Given the description of an element on the screen output the (x, y) to click on. 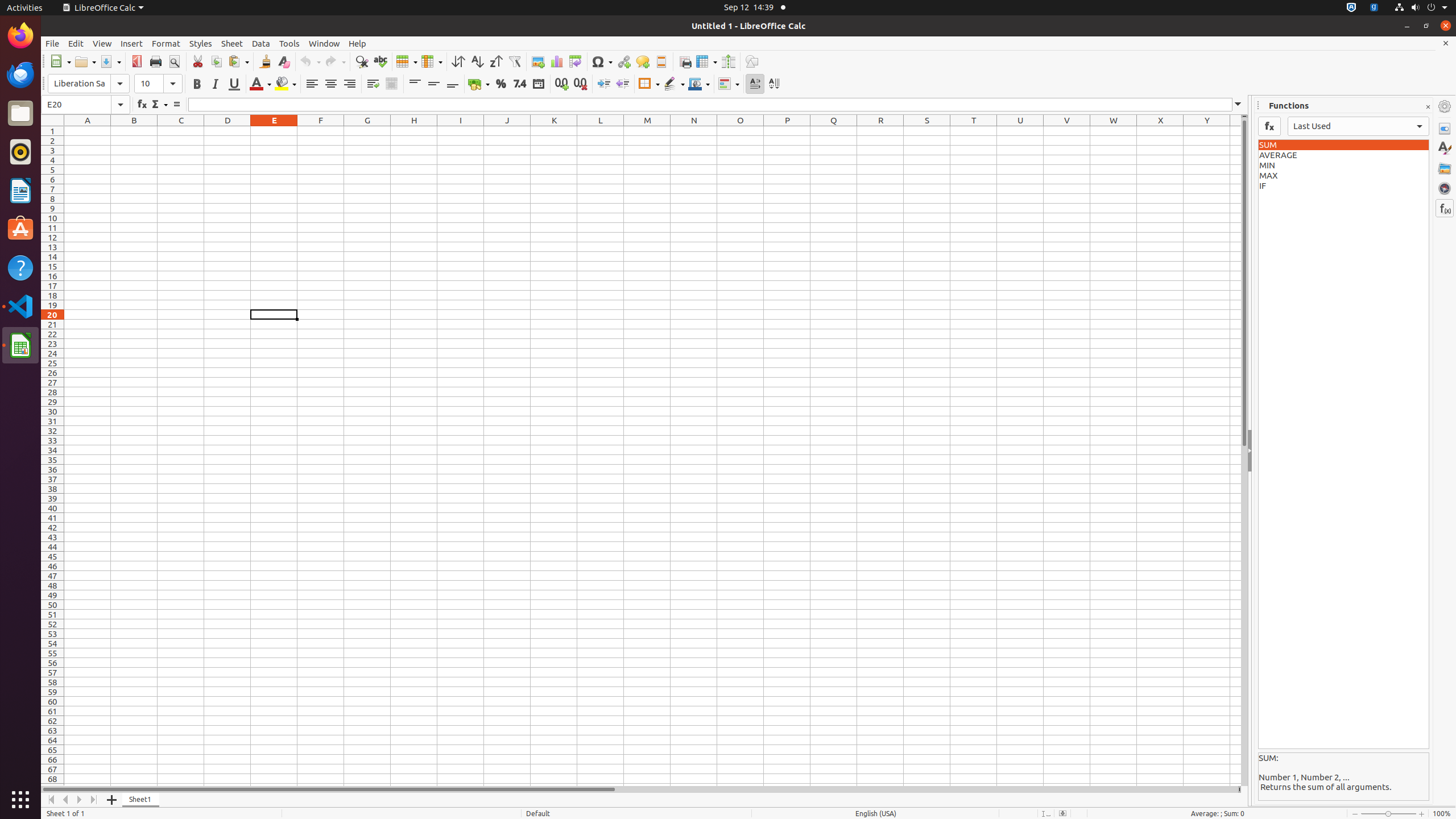
Navigator Element type: radio-button (1444, 188)
R1 Element type: table-cell (880, 130)
W1 Element type: table-cell (1113, 130)
Underline Element type: push-button (233, 83)
Font Color Element type: push-button (260, 83)
